Given the description of an element on the screen output the (x, y) to click on. 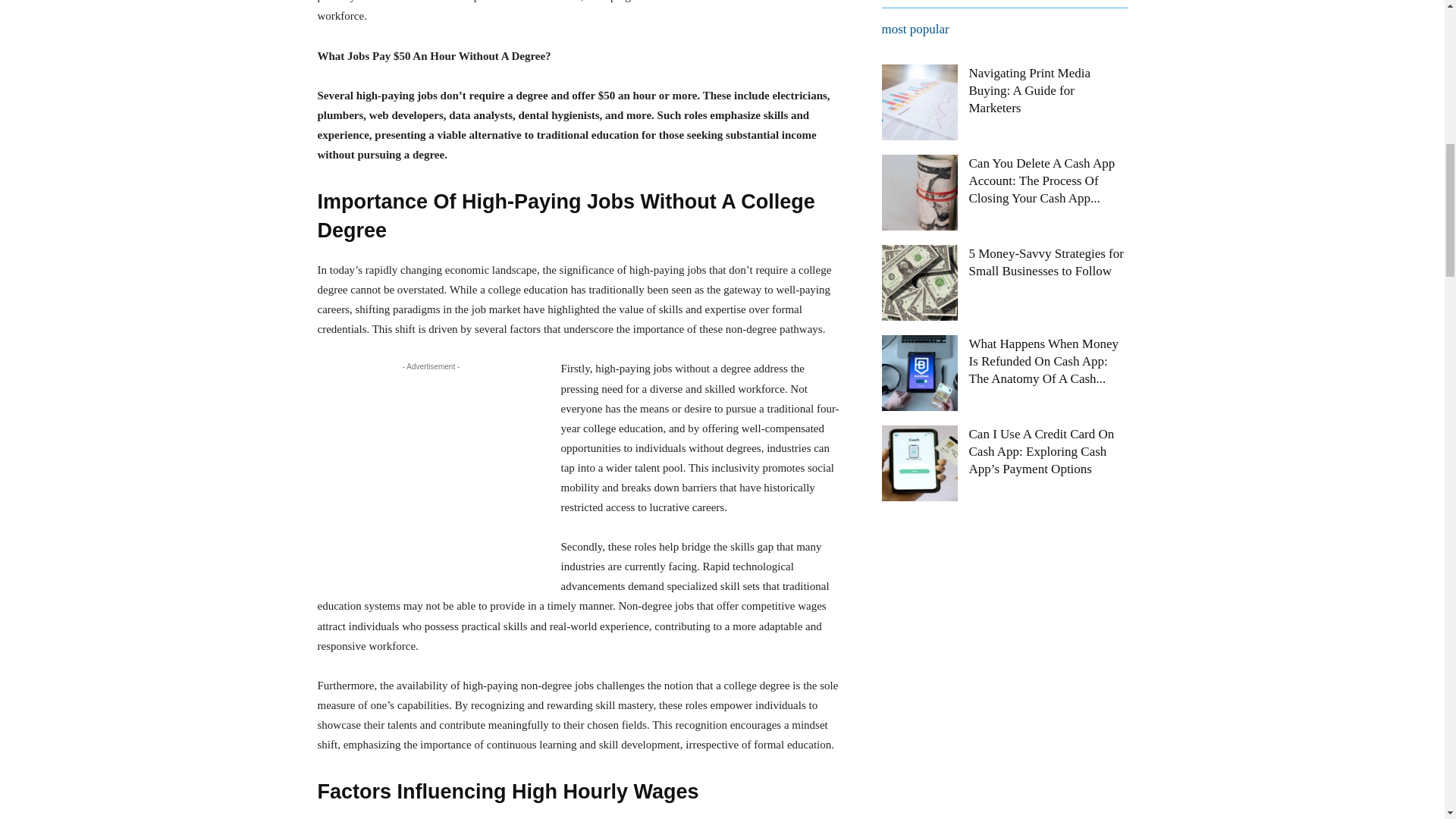
Advertisement (430, 475)
